Given the description of an element on the screen output the (x, y) to click on. 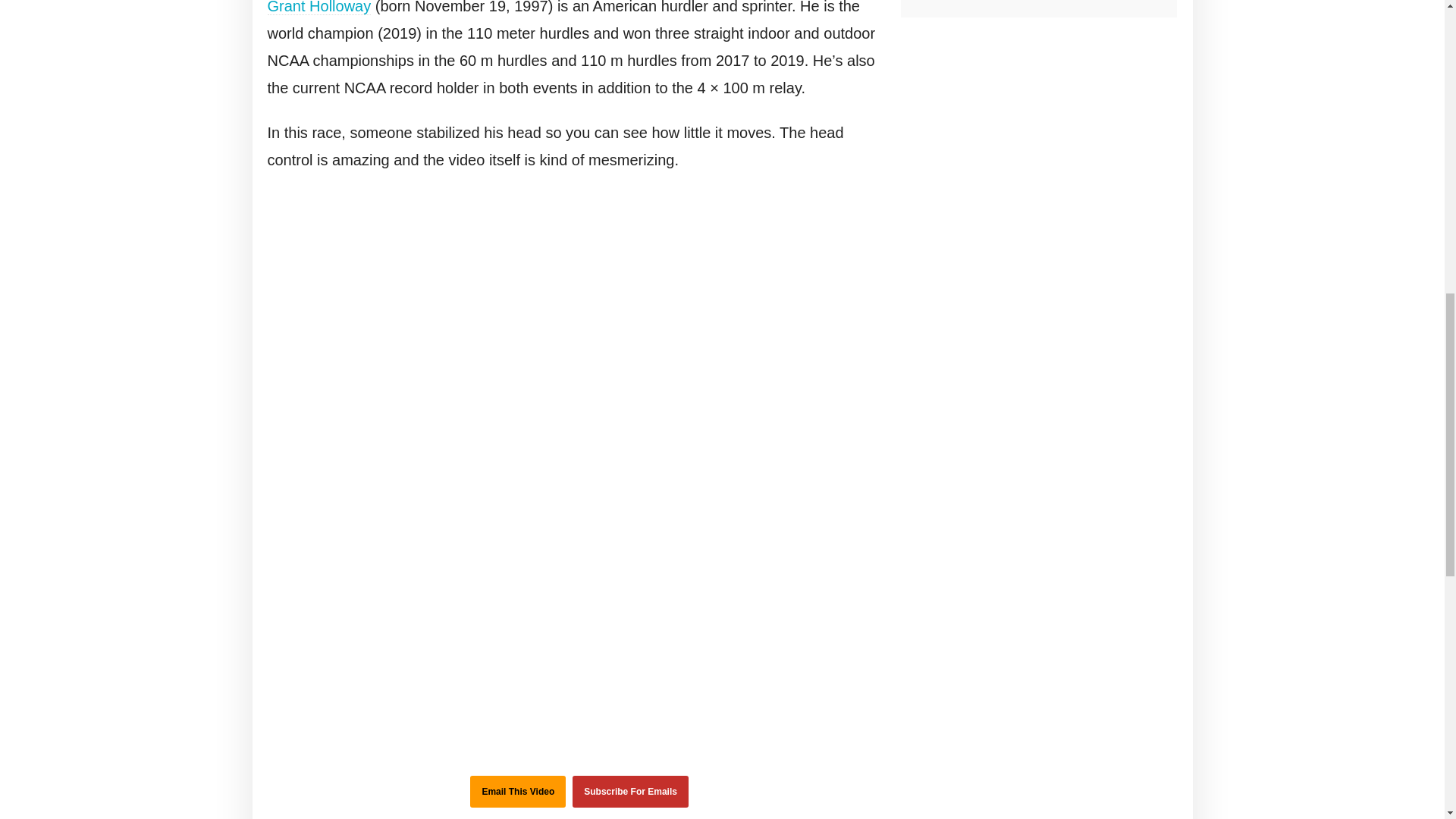
Grant Holloway (318, 7)
Email This Video (518, 791)
Subscribe For Emails (630, 791)
